Given the description of an element on the screen output the (x, y) to click on. 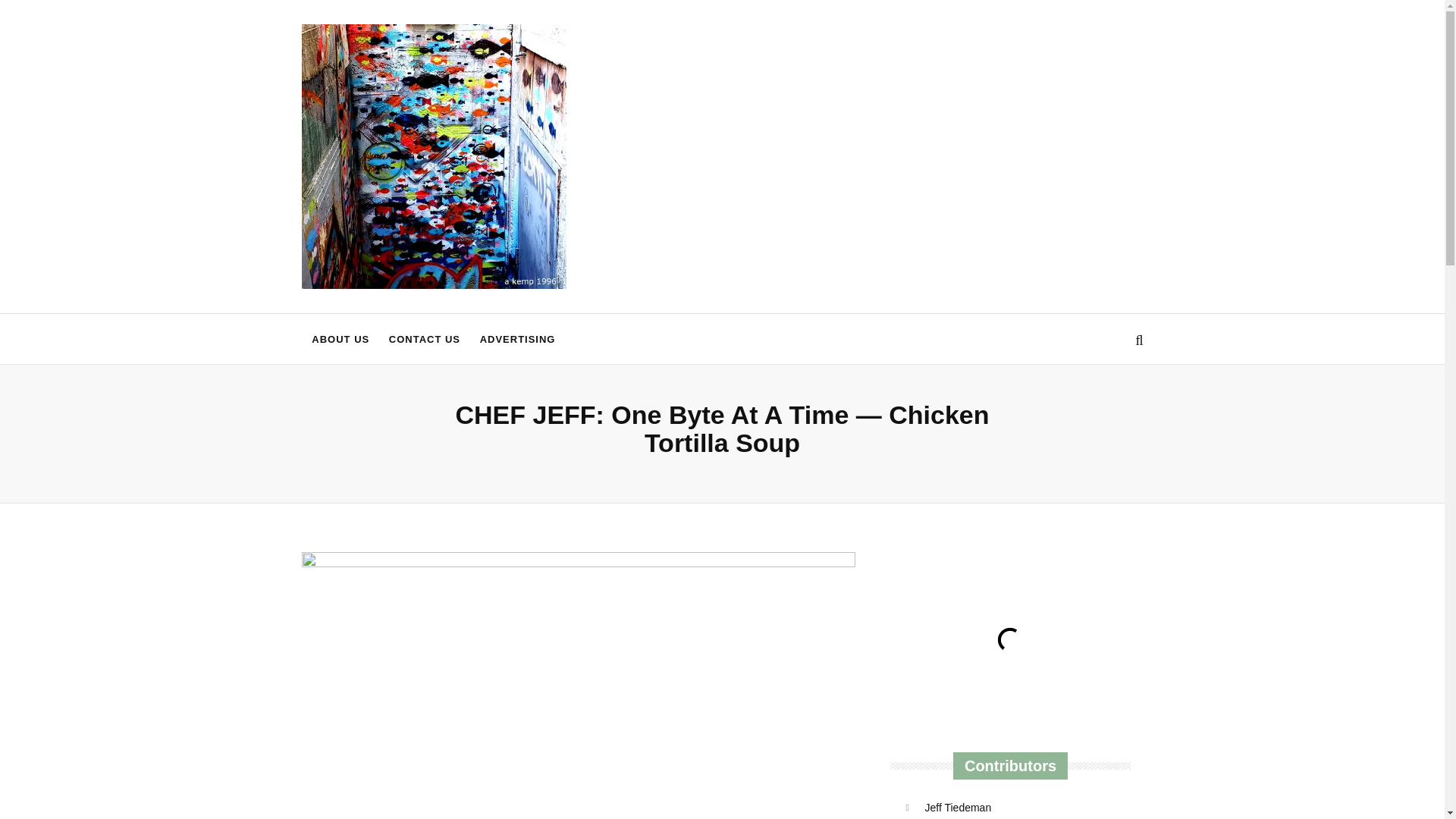
ABOUT US (339, 338)
CONTACT US (424, 338)
About us (339, 338)
ADVERTISING (517, 338)
Advertising (517, 338)
Contact us (424, 338)
